Given the description of an element on the screen output the (x, y) to click on. 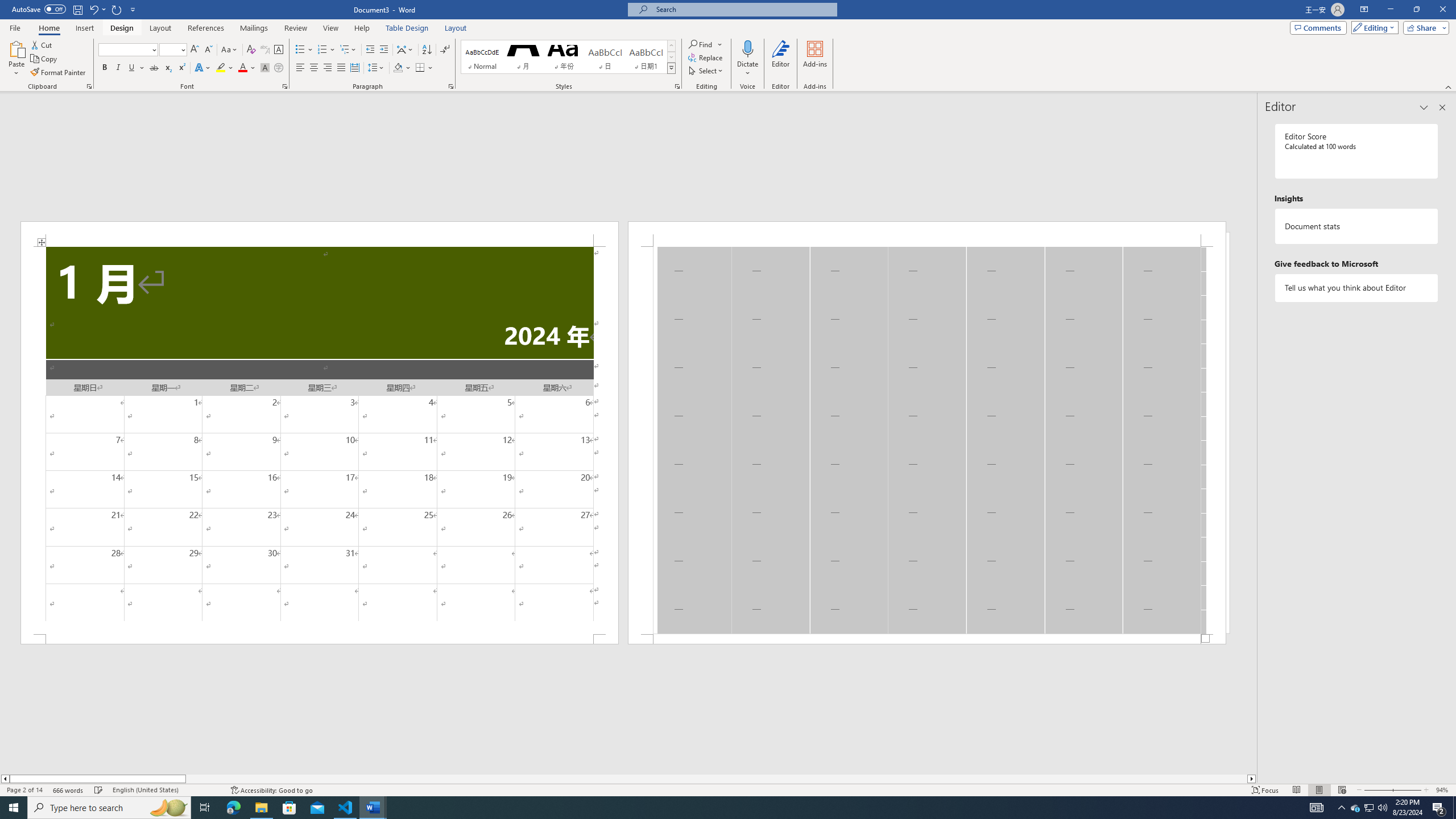
Column left (5, 778)
